Given the description of an element on the screen output the (x, y) to click on. 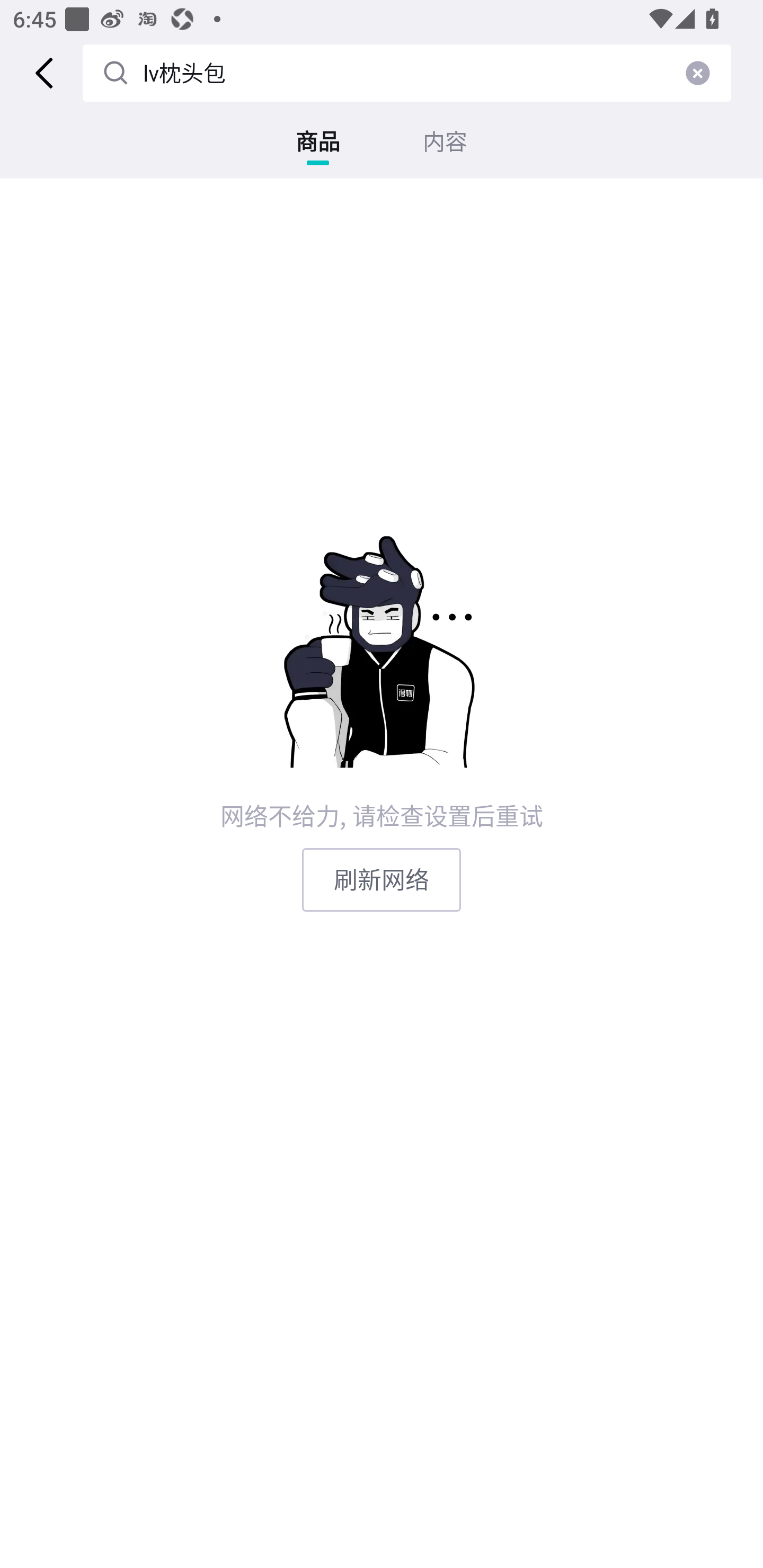
lv枕头包 (406, 72)
lv枕头包 (184, 72)
商品 (317, 141)
内容 (444, 141)
刷新网络 (381, 879)
